Given the description of an element on the screen output the (x, y) to click on. 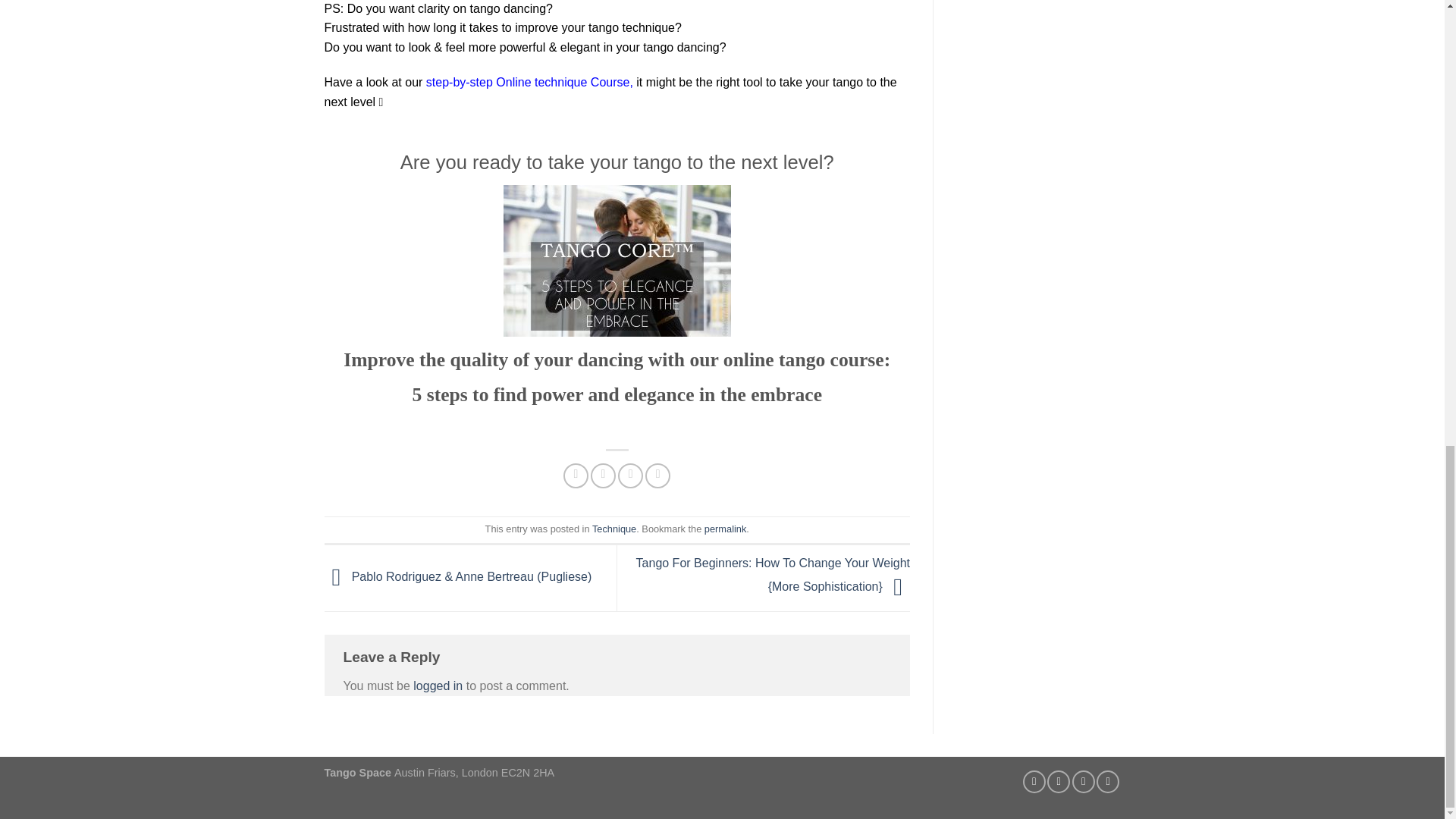
permalink (724, 528)
Share on Twitter (603, 475)
Follow on YouTube (1107, 781)
Send us an email (1082, 781)
Follow on Facebook (1034, 781)
Pin on Pinterest (657, 475)
Technique (614, 528)
 step-by-step Online technique Course (525, 82)
Email to a Friend (630, 475)
Follow on Twitter (1058, 781)
